Given the description of an element on the screen output the (x, y) to click on. 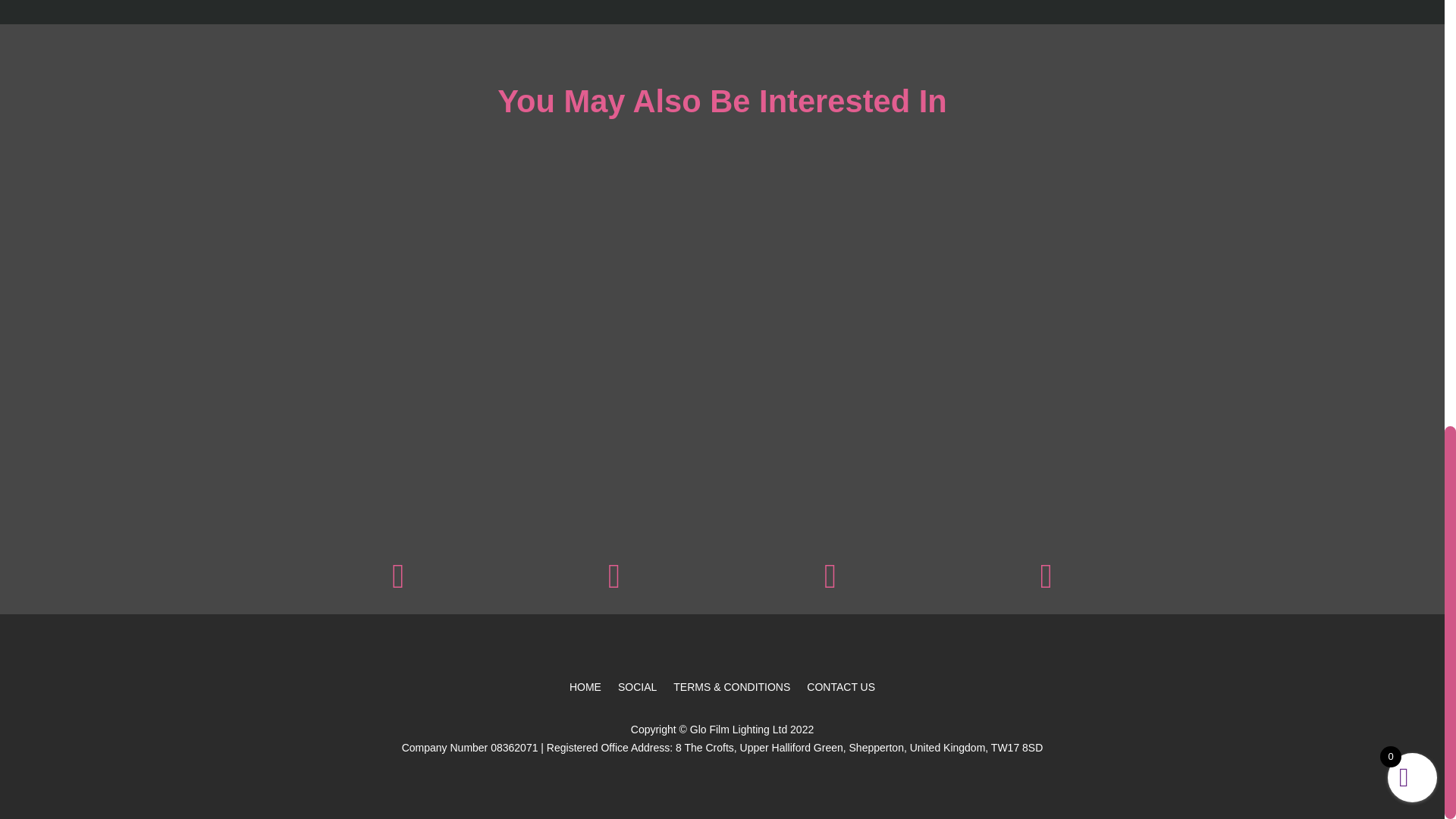
HOME (585, 689)
Screenshot 2023-01-06 121653 (614, 583)
SOCIAL (636, 689)
CONTACT US (840, 689)
Screenshot 2023-01-06 121653 (829, 583)
Screenshot 2023-01-06 121653 (1045, 583)
Screenshot 2023-01-06 121653 (397, 583)
